Given the description of an element on the screen output the (x, y) to click on. 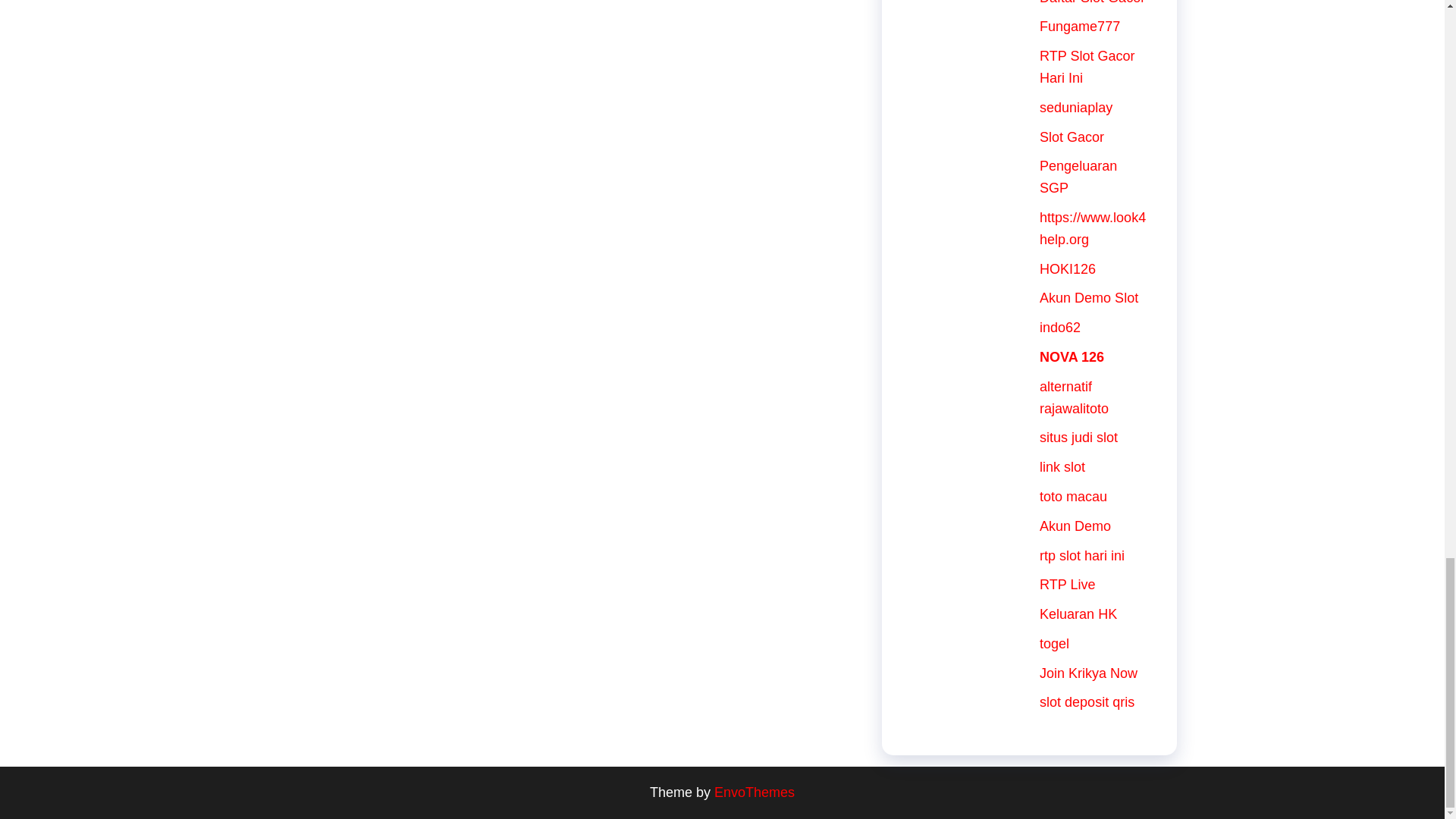
RTP Slot Gacor Hari Ini (1086, 66)
Daftar Slot Gacor (1091, 2)
seduniaplay (1075, 107)
Pengeluaran SGP (1077, 176)
indo62 (1059, 327)
HOKI126 (1067, 268)
Fungame777 (1079, 26)
Akun Demo Slot (1088, 297)
Slot Gacor (1071, 136)
NOVA 126 (1071, 356)
